Given the description of an element on the screen output the (x, y) to click on. 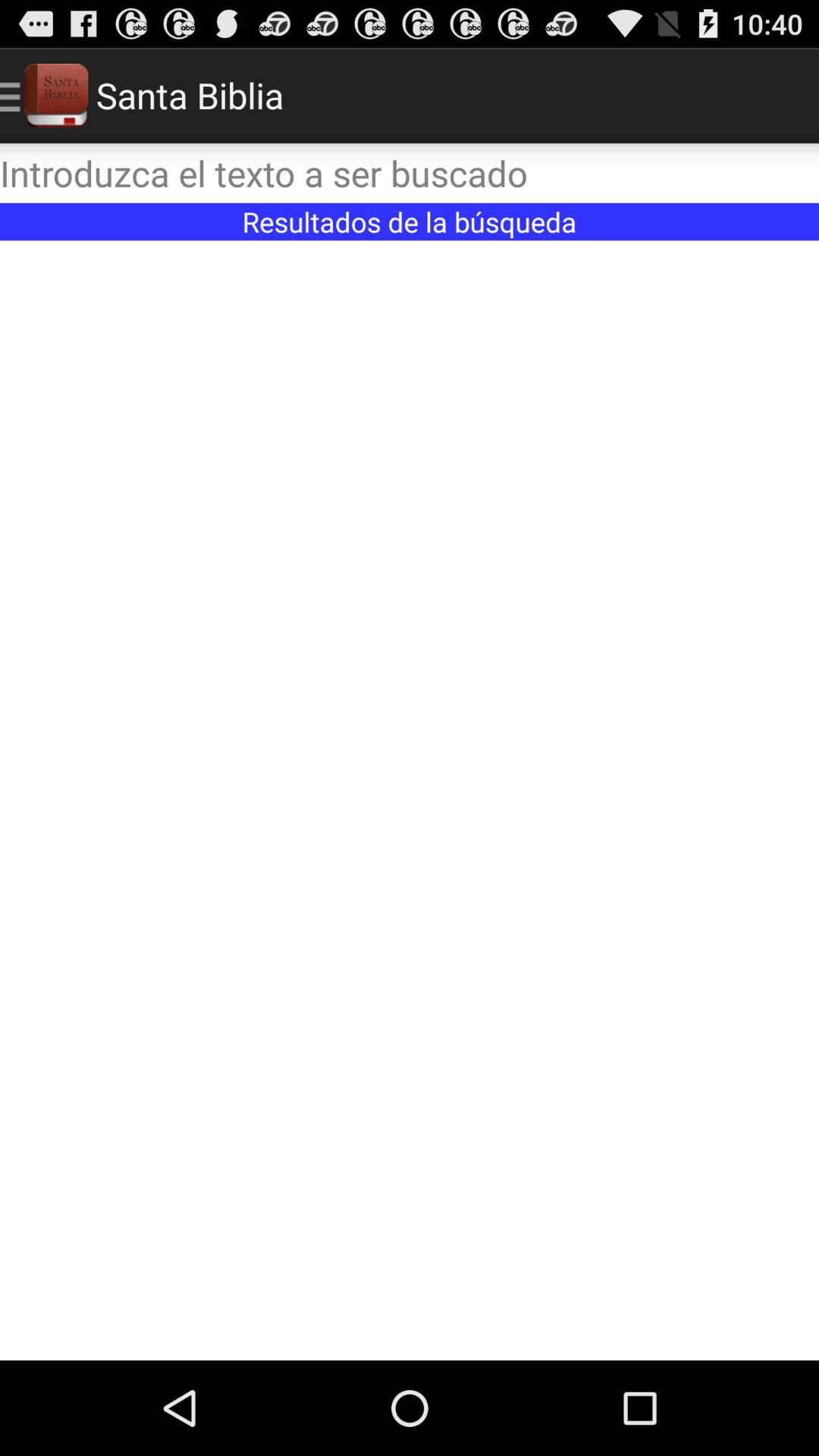
select item below the resultados de la (409, 800)
